Given the description of an element on the screen output the (x, y) to click on. 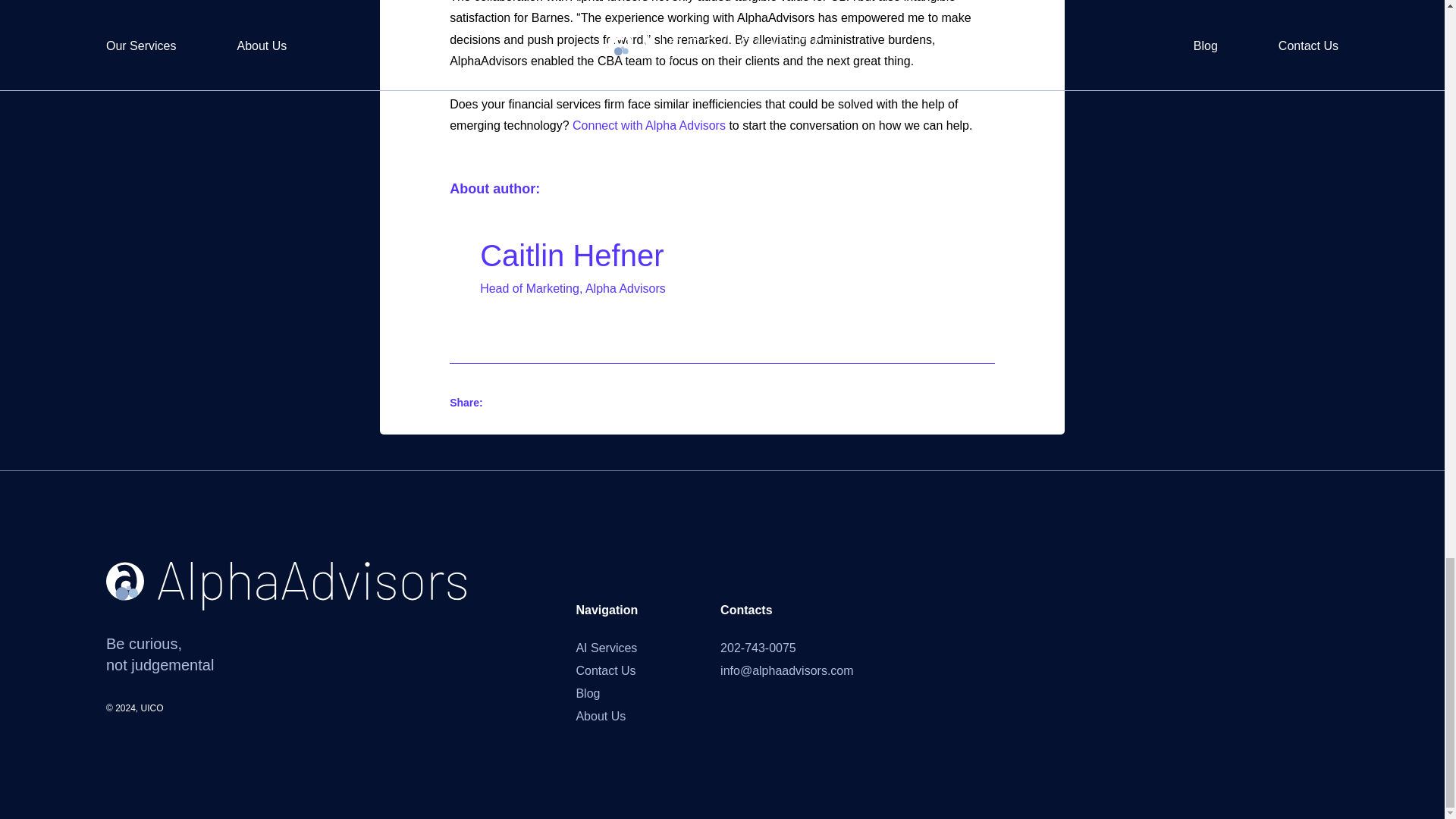
Contact Us (604, 670)
Blog (587, 693)
Connect with Alpha Advisors (648, 124)
AI Services (606, 647)
About Us (600, 716)
202-743-0075 (758, 647)
